Given the description of an element on the screen output the (x, y) to click on. 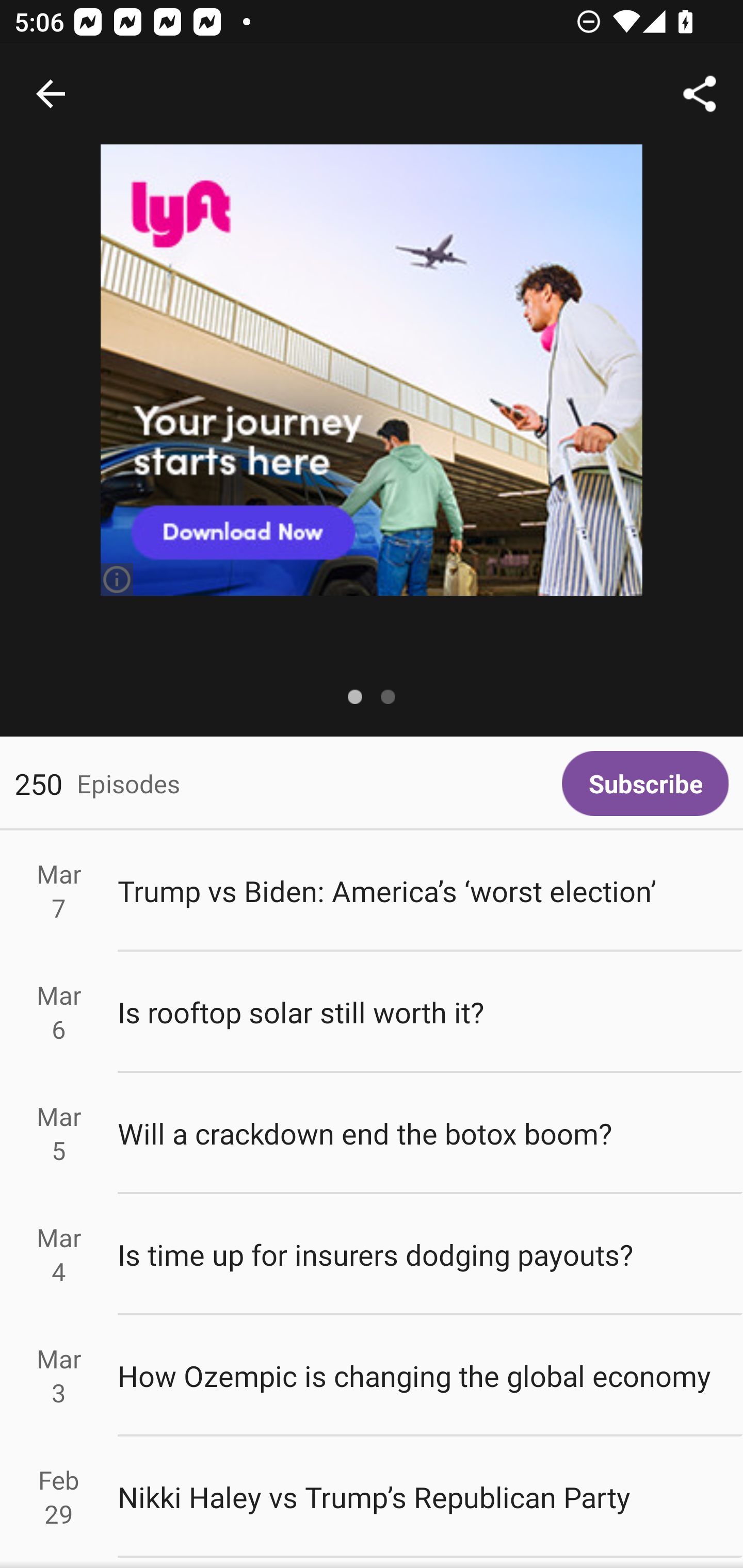
Navigate up (50, 93)
Share... (699, 93)
Subscribe (644, 783)
Mar 7 Trump vs Biden: America’s ‘worst election’ (371, 891)
Mar 6 Is rooftop solar still worth it? (371, 1011)
Mar 5 Will a crackdown end the botox boom? (371, 1133)
Mar 4 Is time up for insurers dodging payouts? (371, 1254)
Mar 3 How Ozempic is changing the global economy (371, 1375)
Feb 29 Nikki Haley vs Trump’s Republican Party (371, 1496)
